Given the description of an element on the screen output the (x, y) to click on. 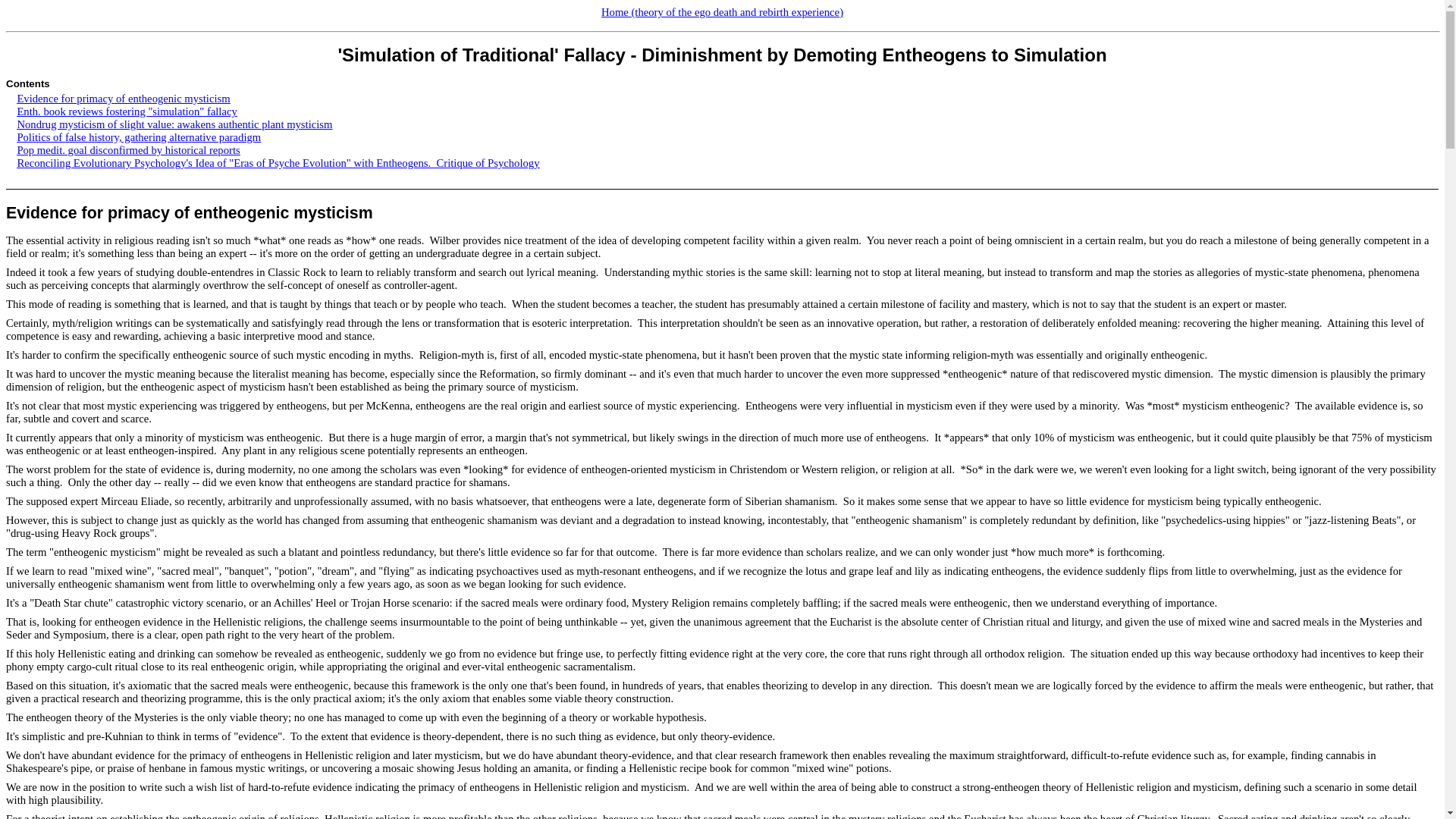
Evidence for primacy of entheogenic mysticism (123, 98)
Politics of false history, gathering alternative paradigm (138, 137)
Pop medit. goal disconfirmed by historical reports (128, 150)
Enth. book reviews fostering "simulation" fallacy (125, 111)
Evidence for primacy of entheogenic mysticism (188, 212)
